Given the description of an element on the screen output the (x, y) to click on. 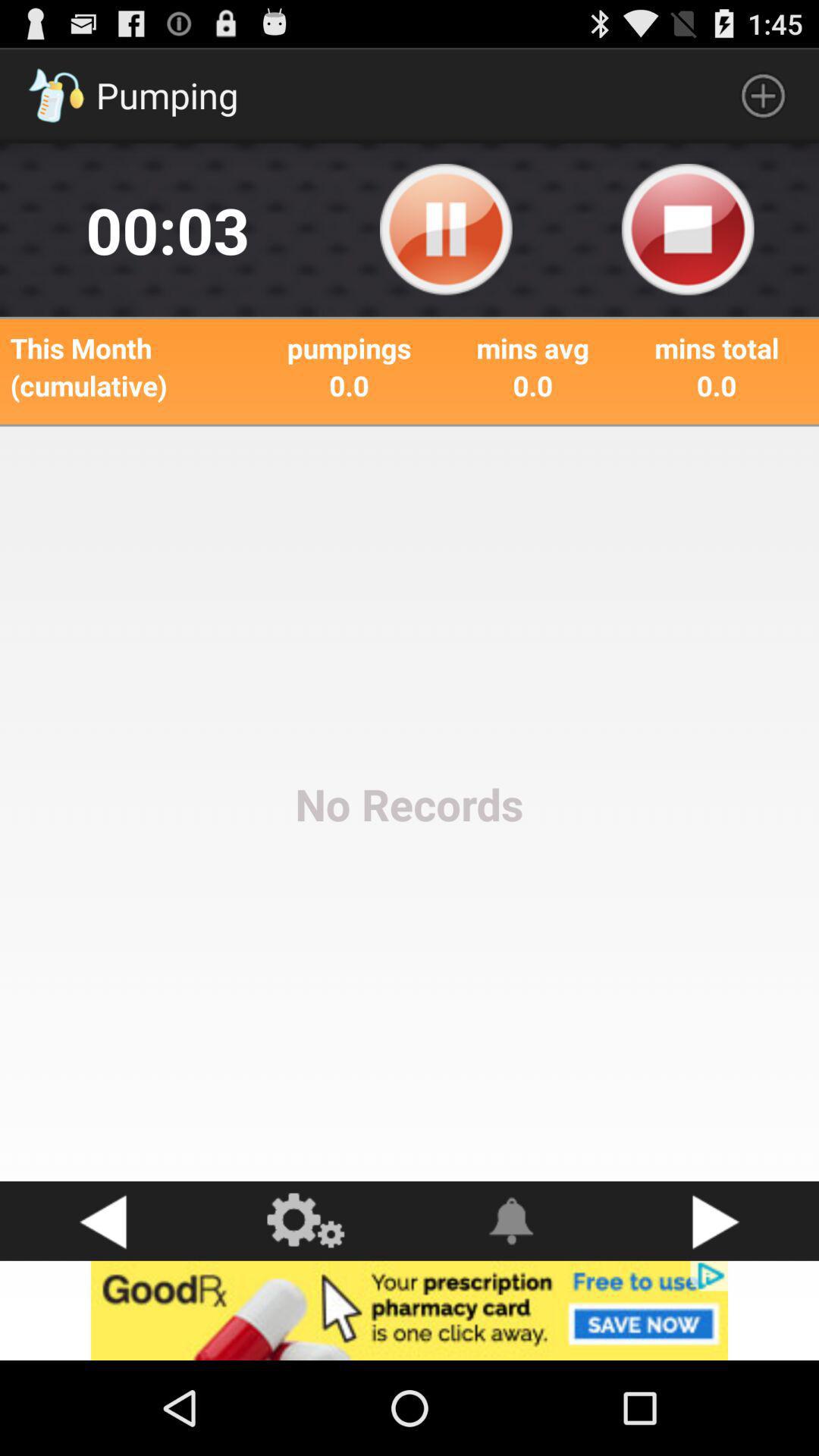
next button (716, 1220)
